Given the description of an element on the screen output the (x, y) to click on. 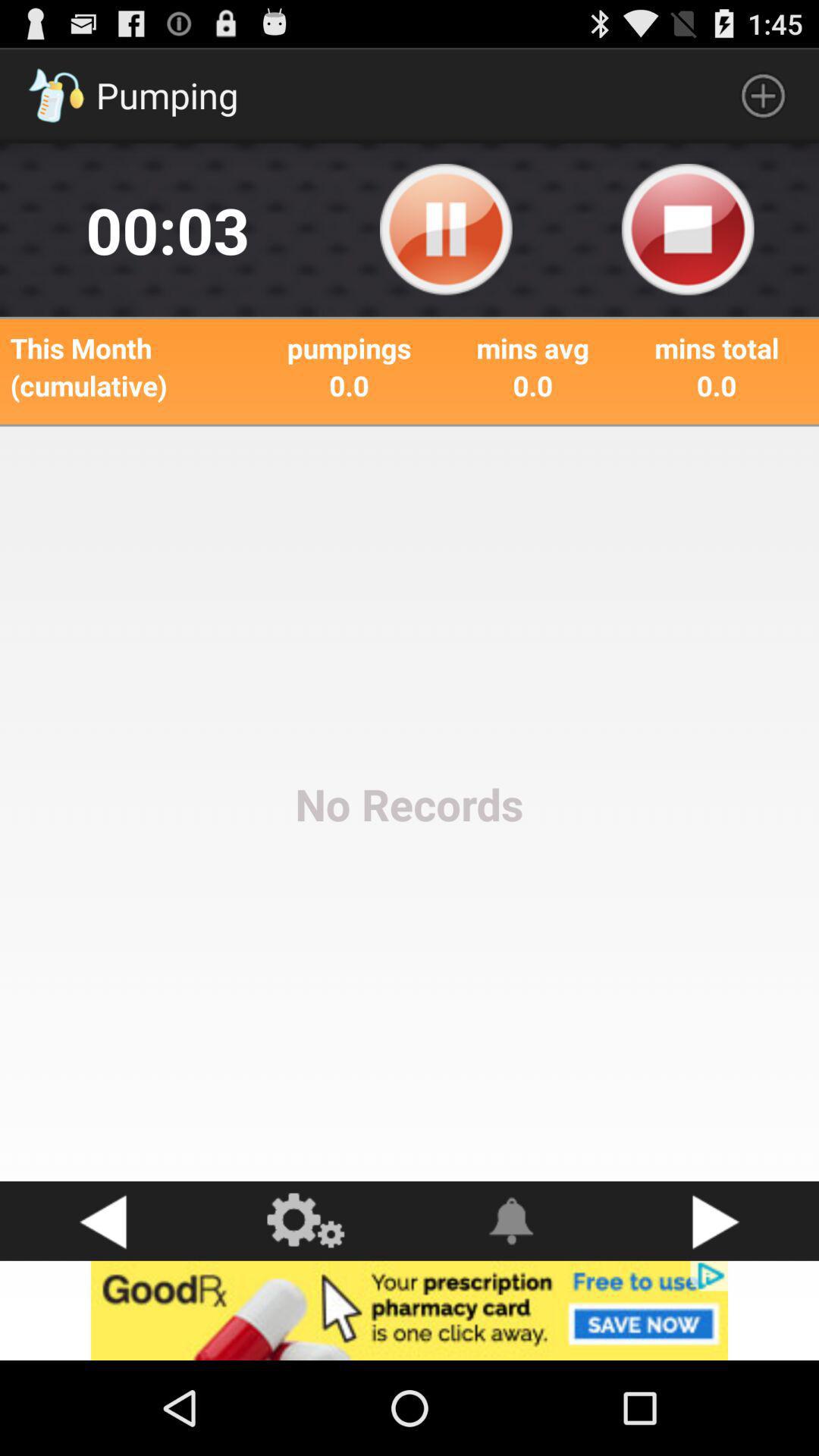
next button (716, 1220)
